Given the description of an element on the screen output the (x, y) to click on. 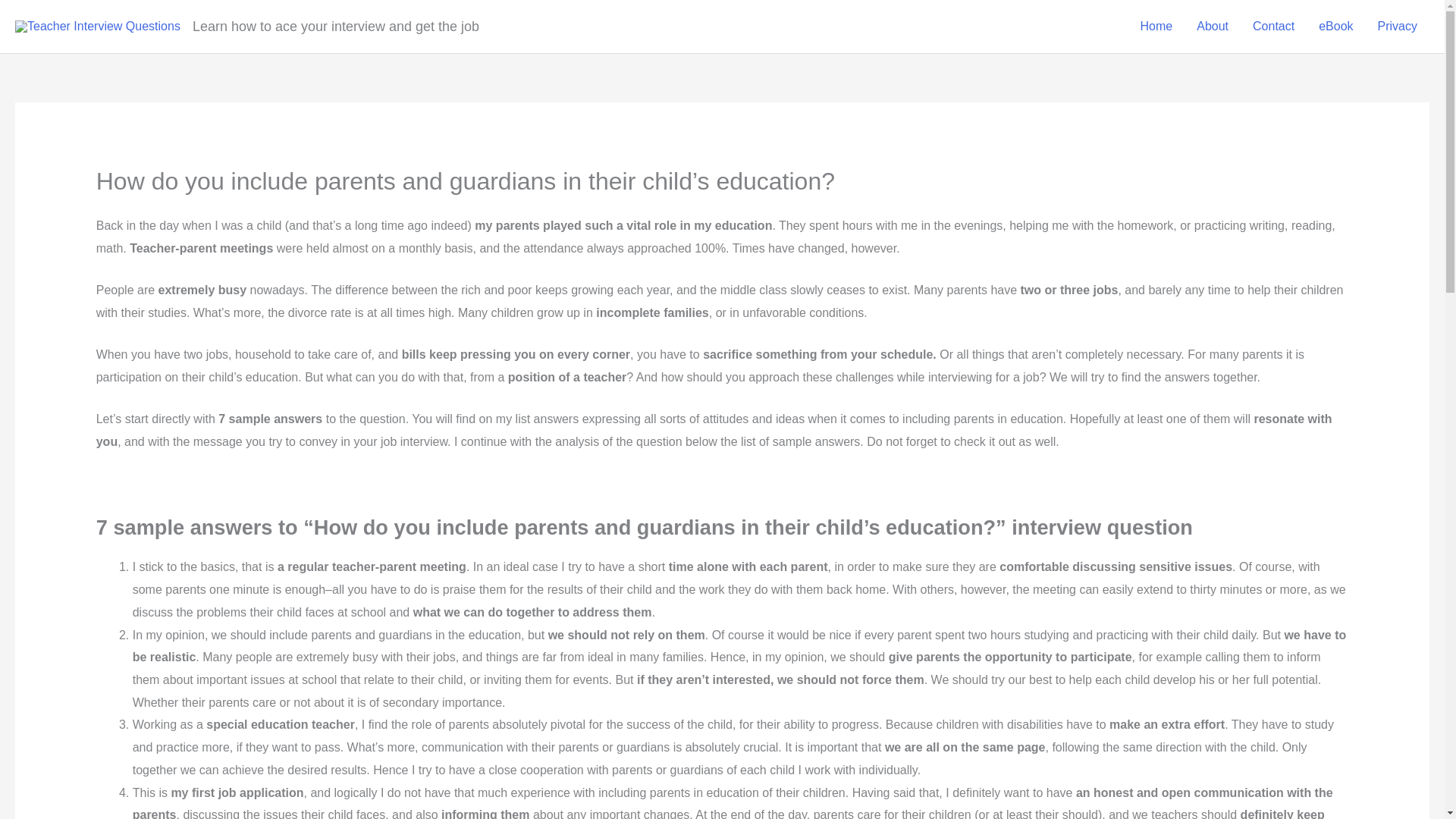
eBook (1335, 26)
Privacy (1397, 26)
Contact (1273, 26)
About (1212, 26)
Home (1156, 26)
